Given the description of an element on the screen output the (x, y) to click on. 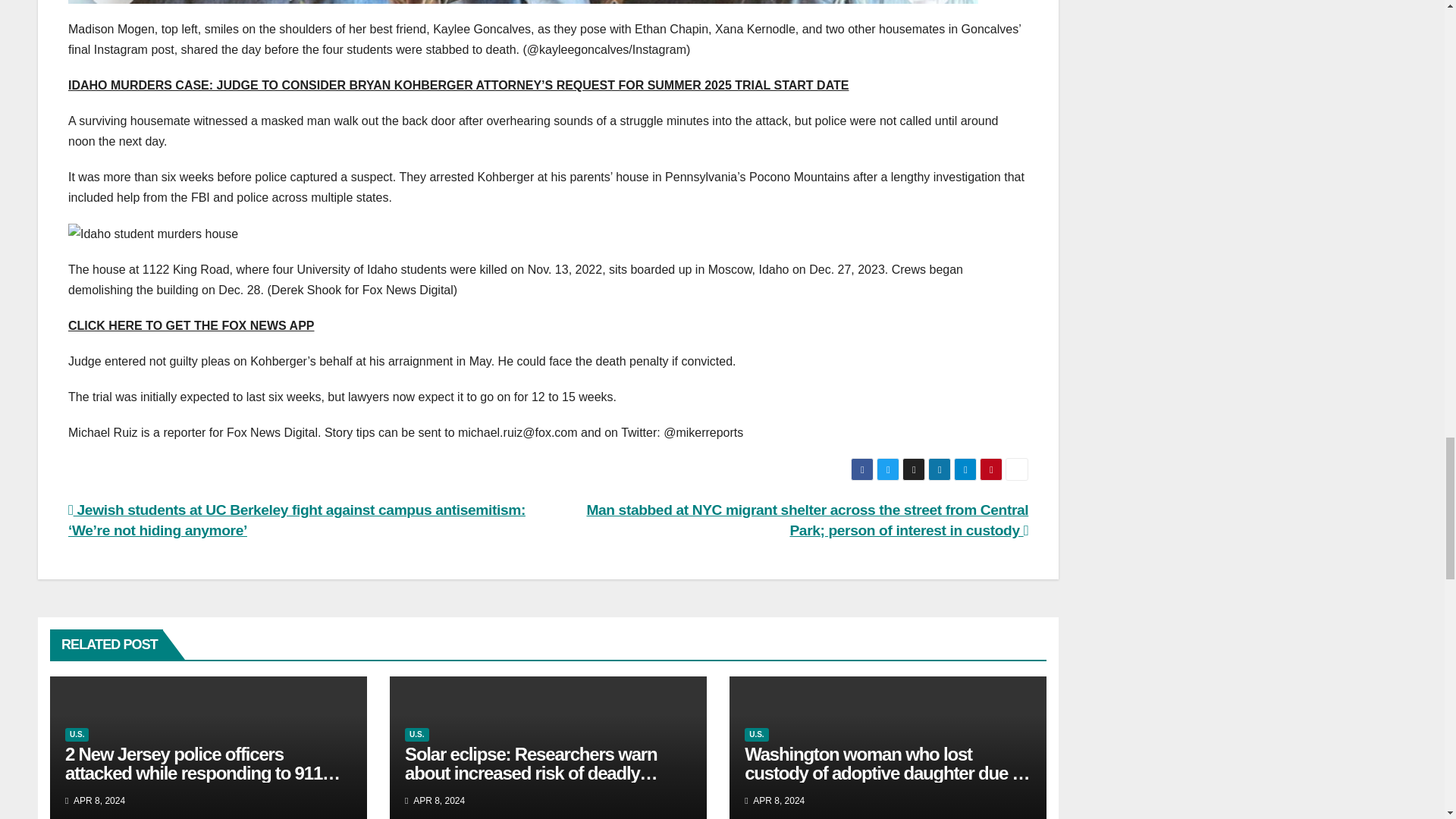
U.S. (756, 735)
U.S. (416, 735)
U.S. (76, 735)
